Given the description of an element on the screen output the (x, y) to click on. 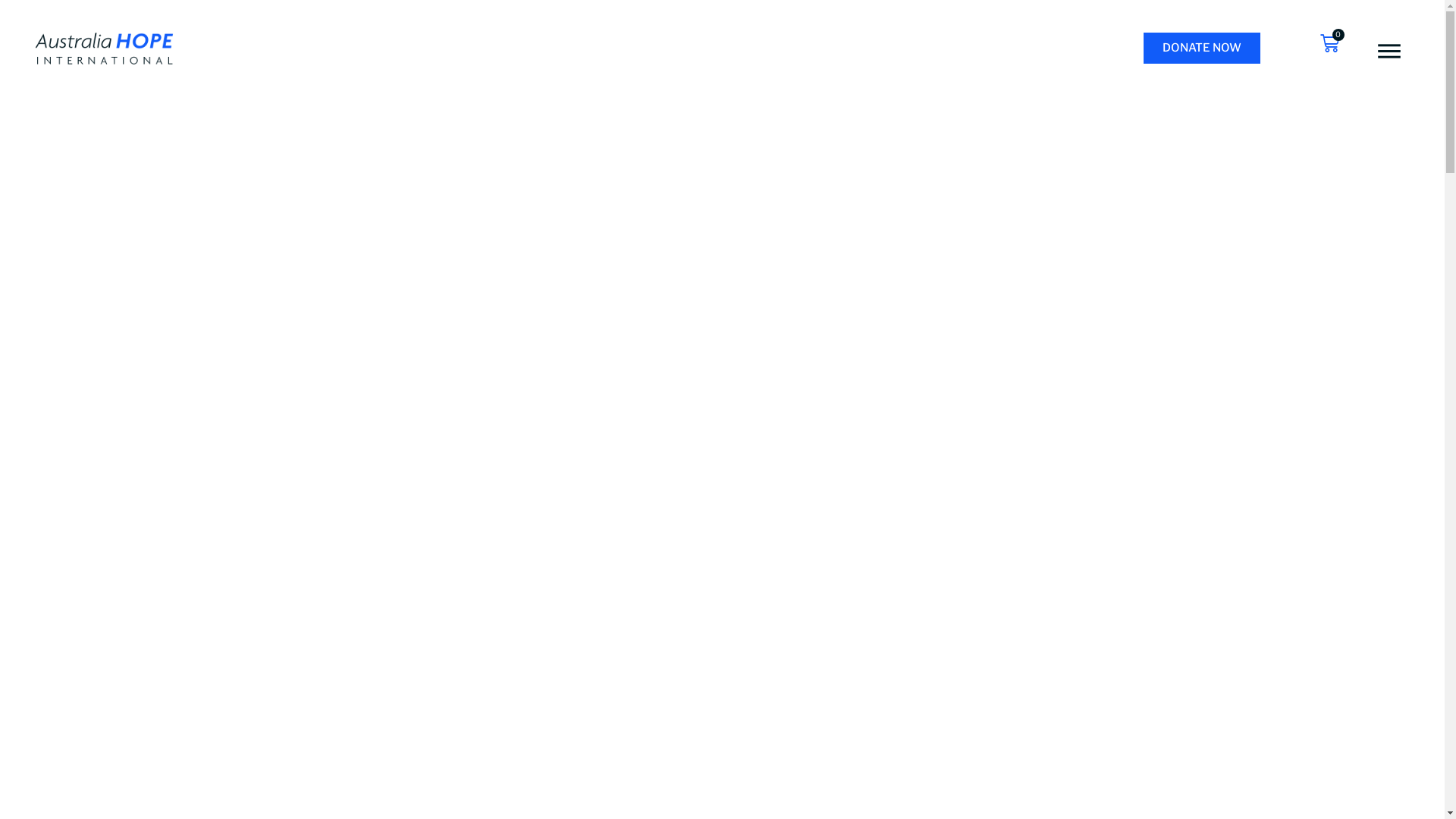
0 Element type: text (1329, 43)
DONATE NOW Element type: text (1201, 47)
